Given the description of an element on the screen output the (x, y) to click on. 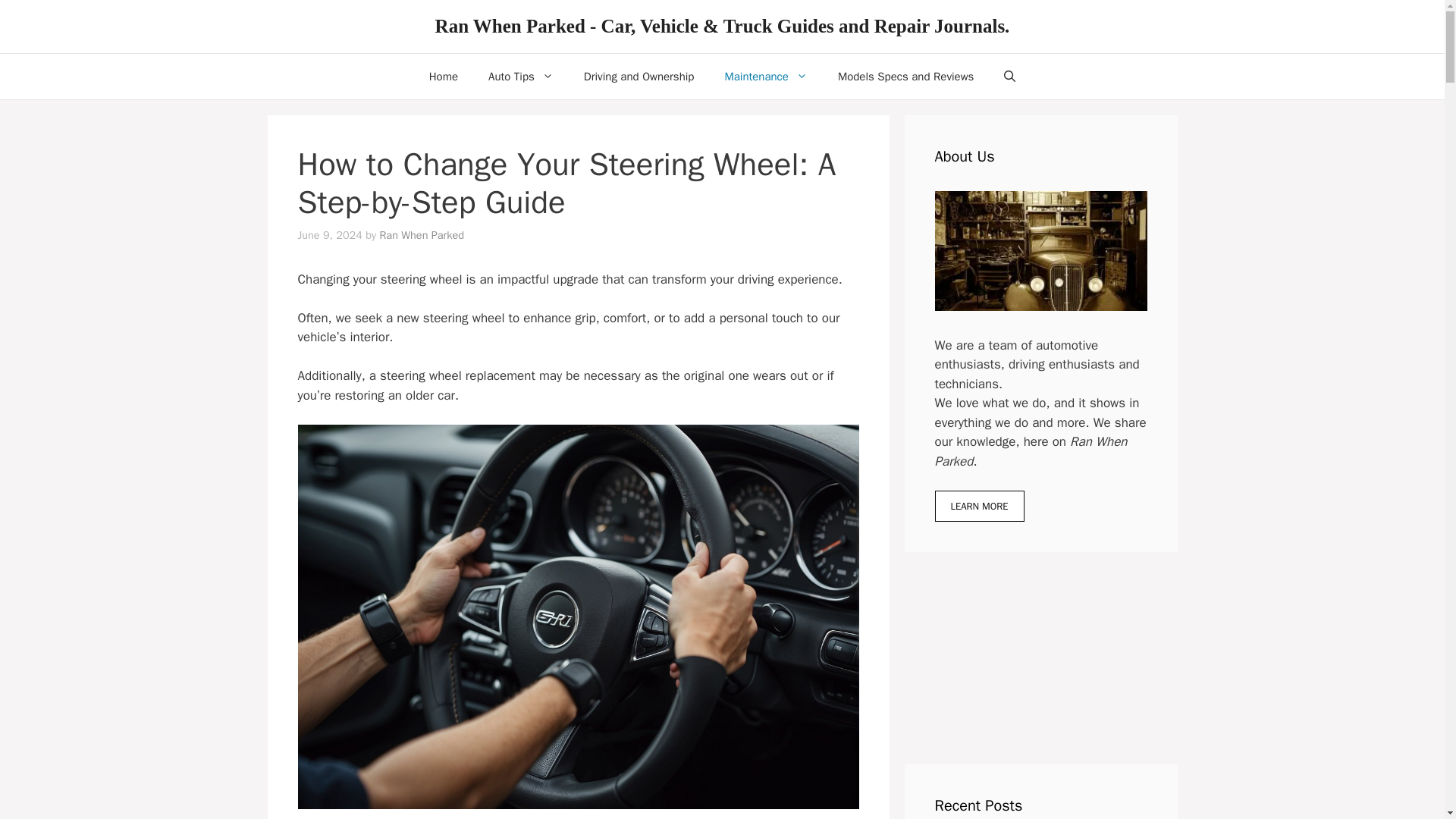
Auto Tips (521, 76)
Home (443, 76)
Ran When Parked (421, 234)
View all posts by Ran When Parked (421, 234)
Maintenance (765, 76)
Driving and Ownership (639, 76)
Models Specs and Reviews (905, 76)
